Given the description of an element on the screen output the (x, y) to click on. 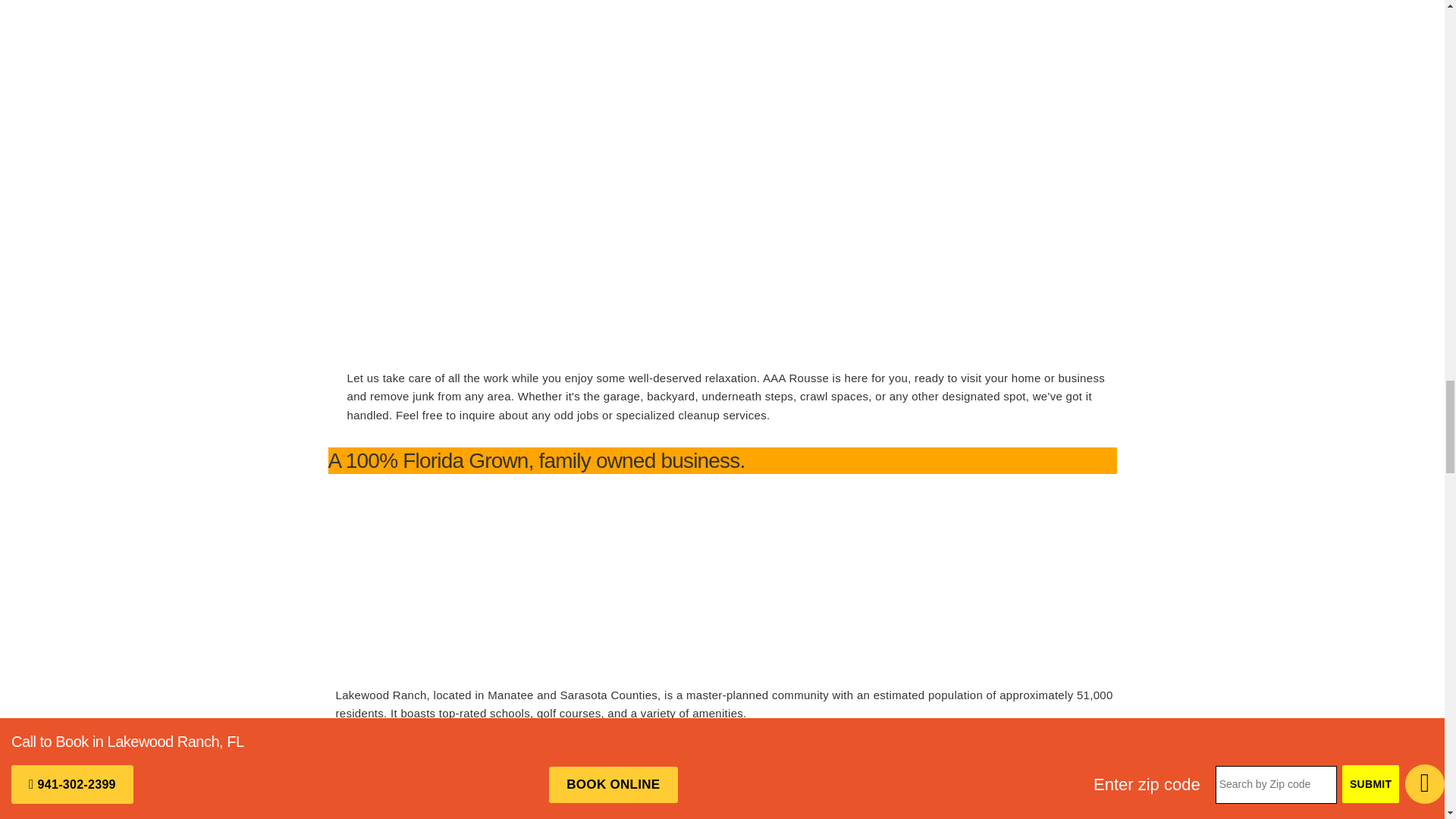
Hoarder clean out service Lakewood Ranch FL (458, 65)
Furniture removal Lakewood Ranch FL a florida grown company (448, 579)
Business Junk Removal Lakewood Ranch (459, 261)
